Given the description of an element on the screen output the (x, y) to click on. 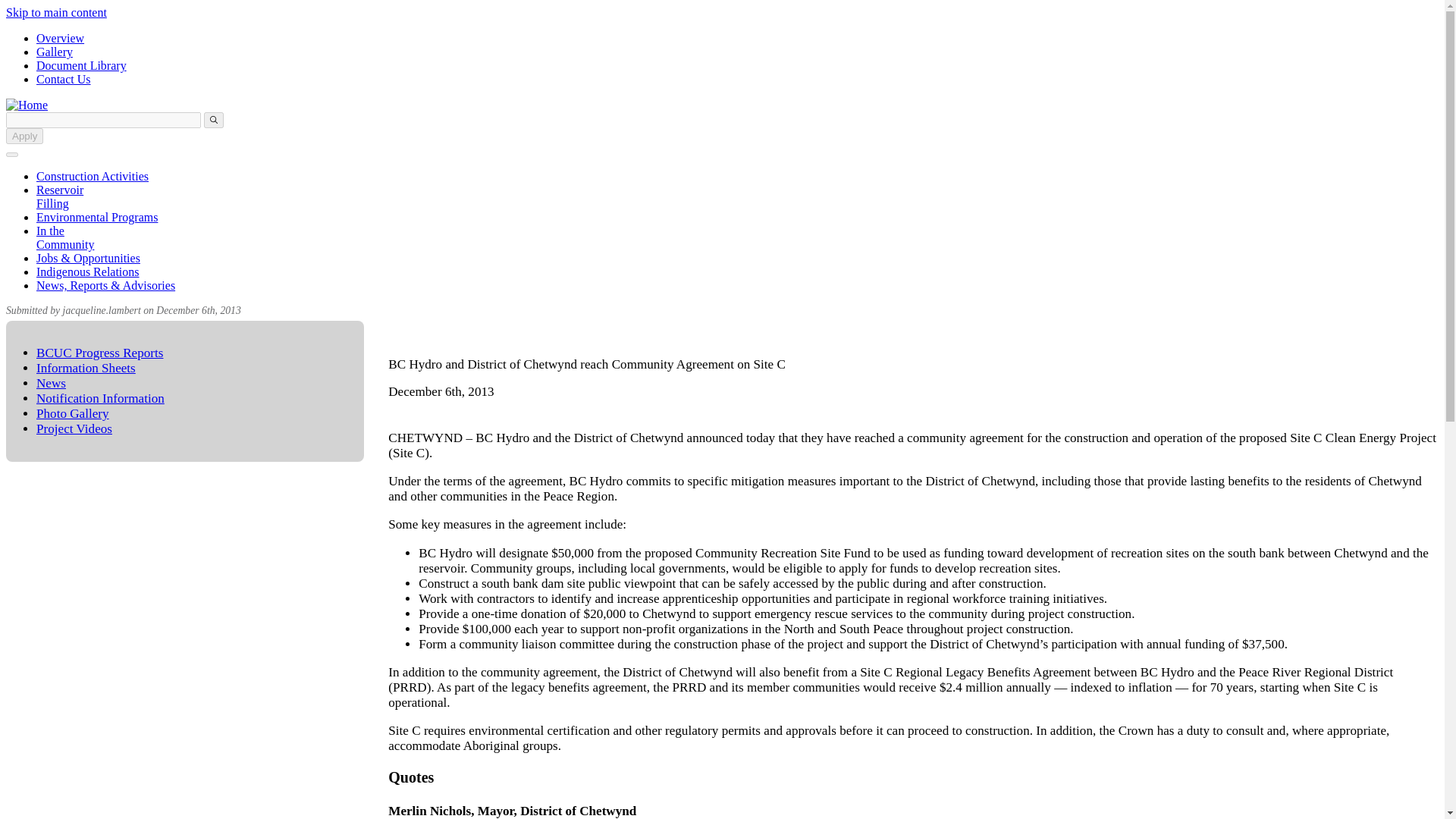
News (50, 382)
Submit the search query. (213, 119)
Document Library (81, 65)
Notification Information (100, 398)
Notification Information (100, 398)
Project Videos (74, 428)
Progress Reports to the BCUC (99, 352)
Overview (60, 38)
Photo gallery (54, 51)
Information Sheets (85, 368)
Reservoir (59, 196)
Project Videos (74, 428)
News (50, 382)
Environmental Programs (96, 216)
